Given the description of an element on the screen output the (x, y) to click on. 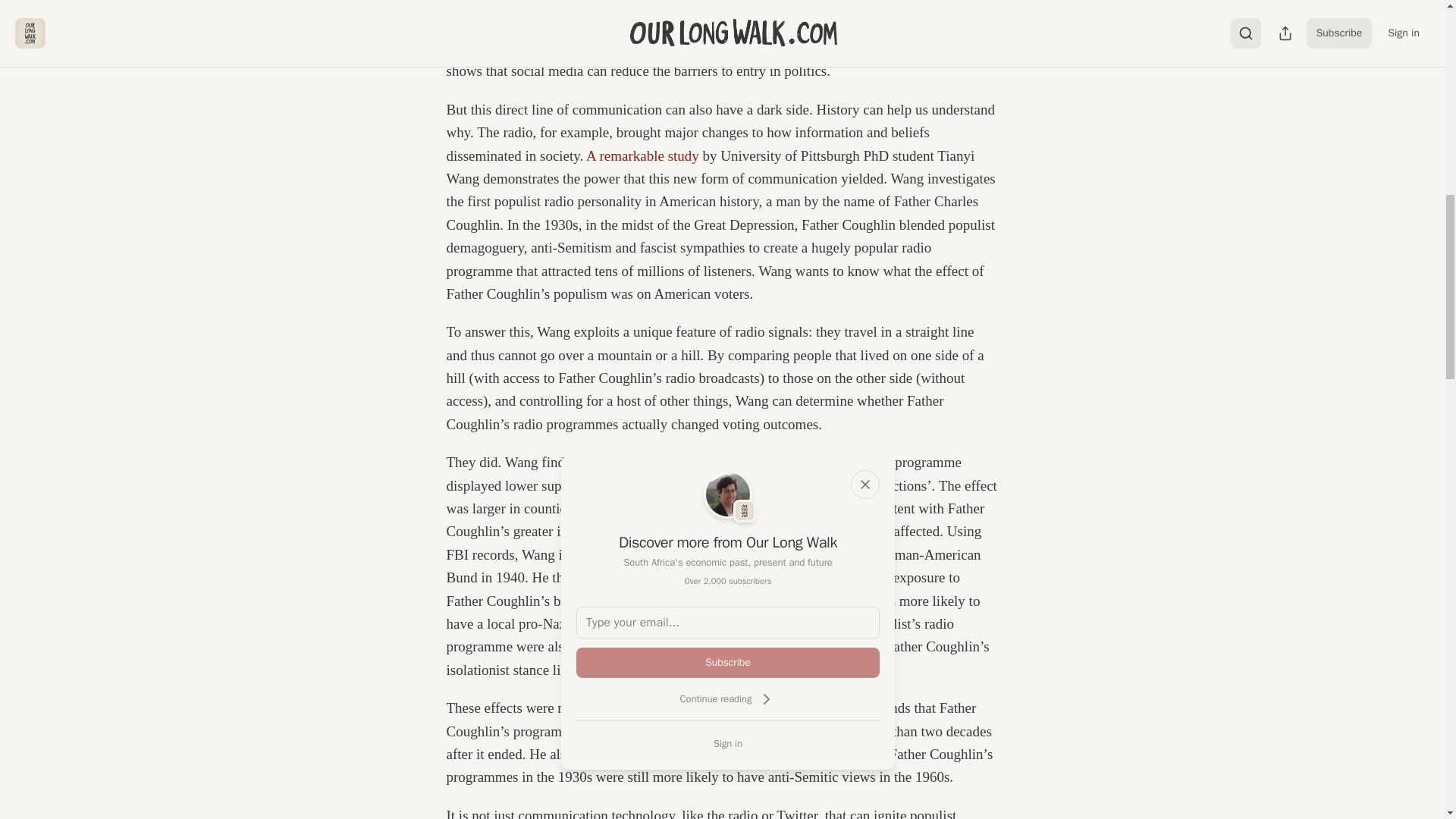
A remarkable study (642, 155)
Subscribe (727, 662)
Sign in (727, 743)
